Given the description of an element on the screen output the (x, y) to click on. 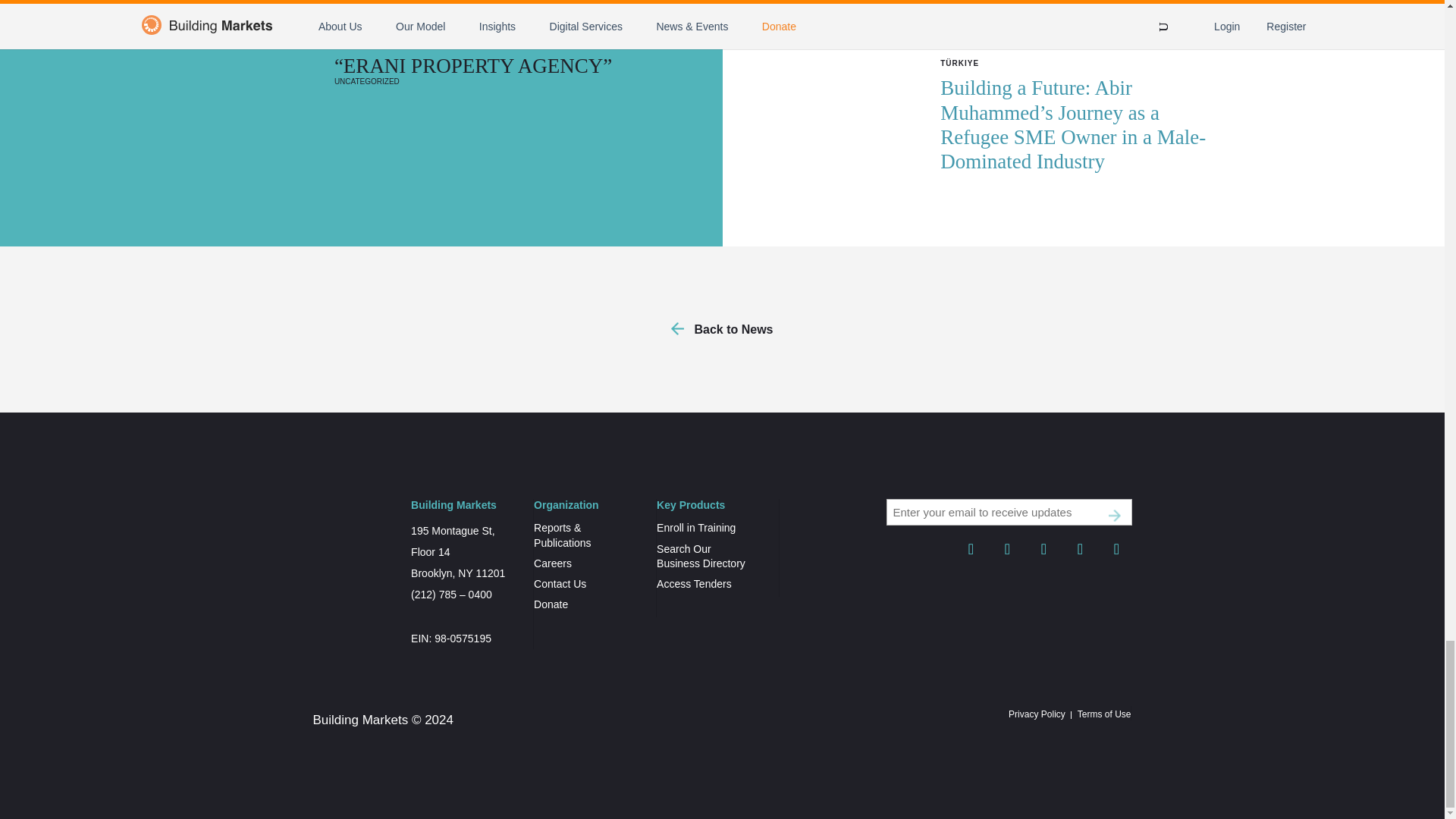
Submit (1114, 515)
